Given the description of an element on the screen output the (x, y) to click on. 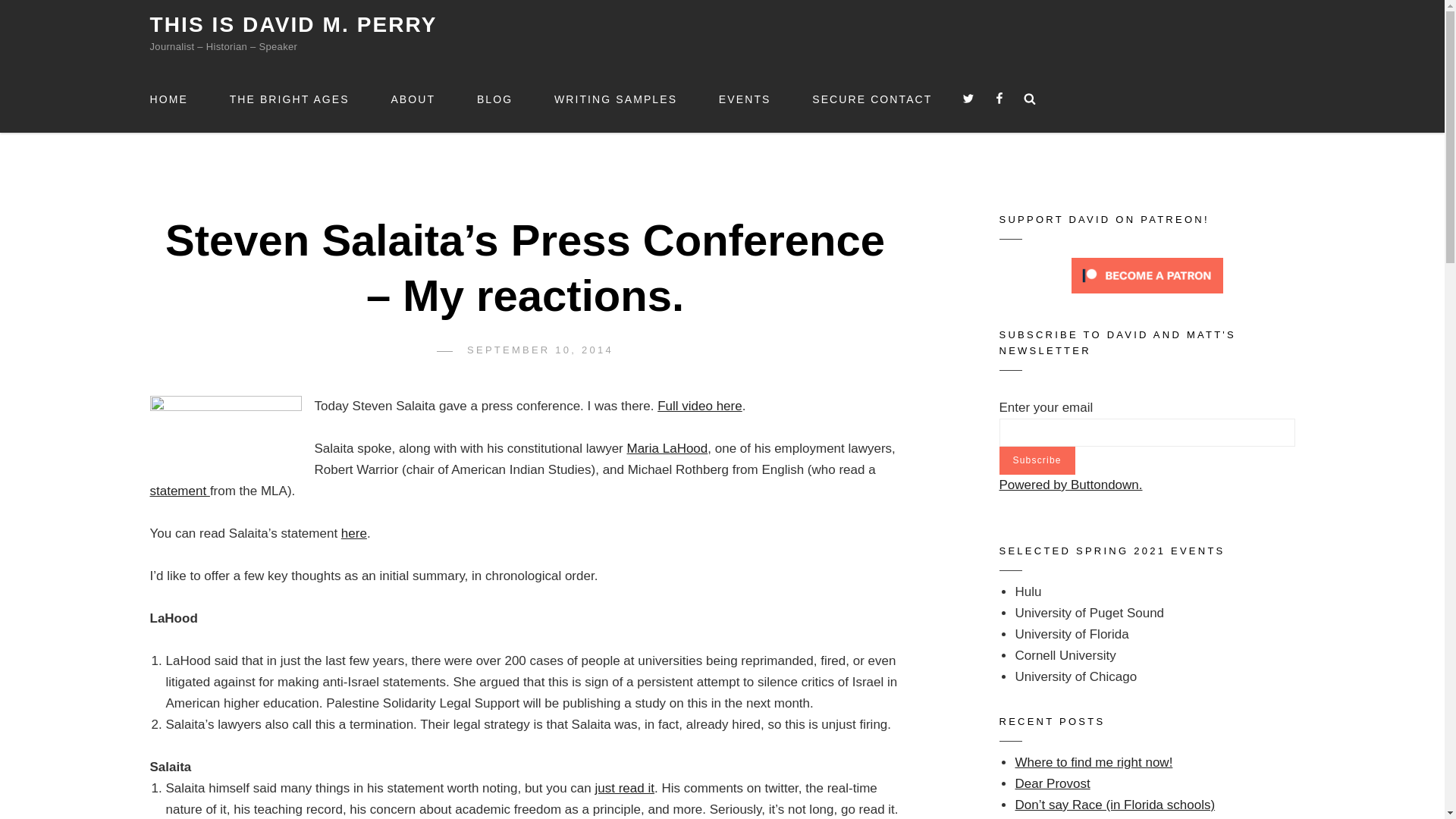
Subscribe (1036, 460)
EVENTS (745, 99)
Where to find me right now! (1093, 762)
Powered by Buttondown. (1070, 484)
WRITING SAMPLES (615, 99)
Maria LaHood (666, 448)
Subscribe (1036, 460)
THIS IS DAVID M. PERRY (293, 24)
SEPTEMBER 10, 2014 (539, 349)
just read it (624, 788)
here (353, 533)
statement (179, 490)
Full video here (700, 405)
BLOG (494, 99)
SECURE CONTACT (871, 99)
